Given the description of an element on the screen output the (x, y) to click on. 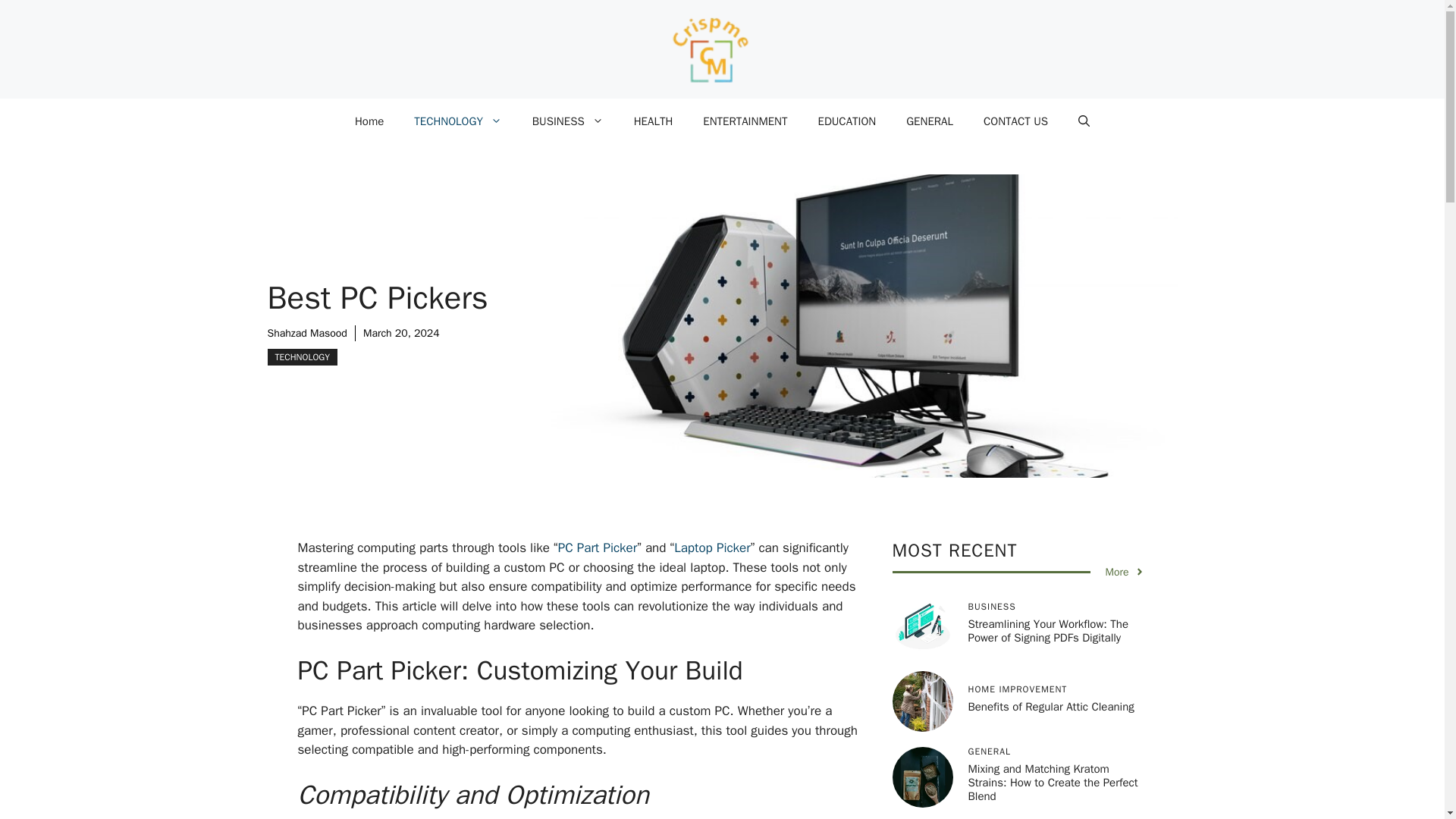
Laptop Picker (712, 547)
More (1124, 571)
TECHNOLOGY (301, 356)
EDUCATION (846, 121)
ENTERTAINMENT (744, 121)
HEALTH (653, 121)
BUSINESS (567, 121)
GENERAL (929, 121)
CONTACT US (1015, 121)
PC Part Picker (597, 547)
TECHNOLOGY (457, 121)
Shahzad Masood (306, 332)
Home (368, 121)
